Given the description of an element on the screen output the (x, y) to click on. 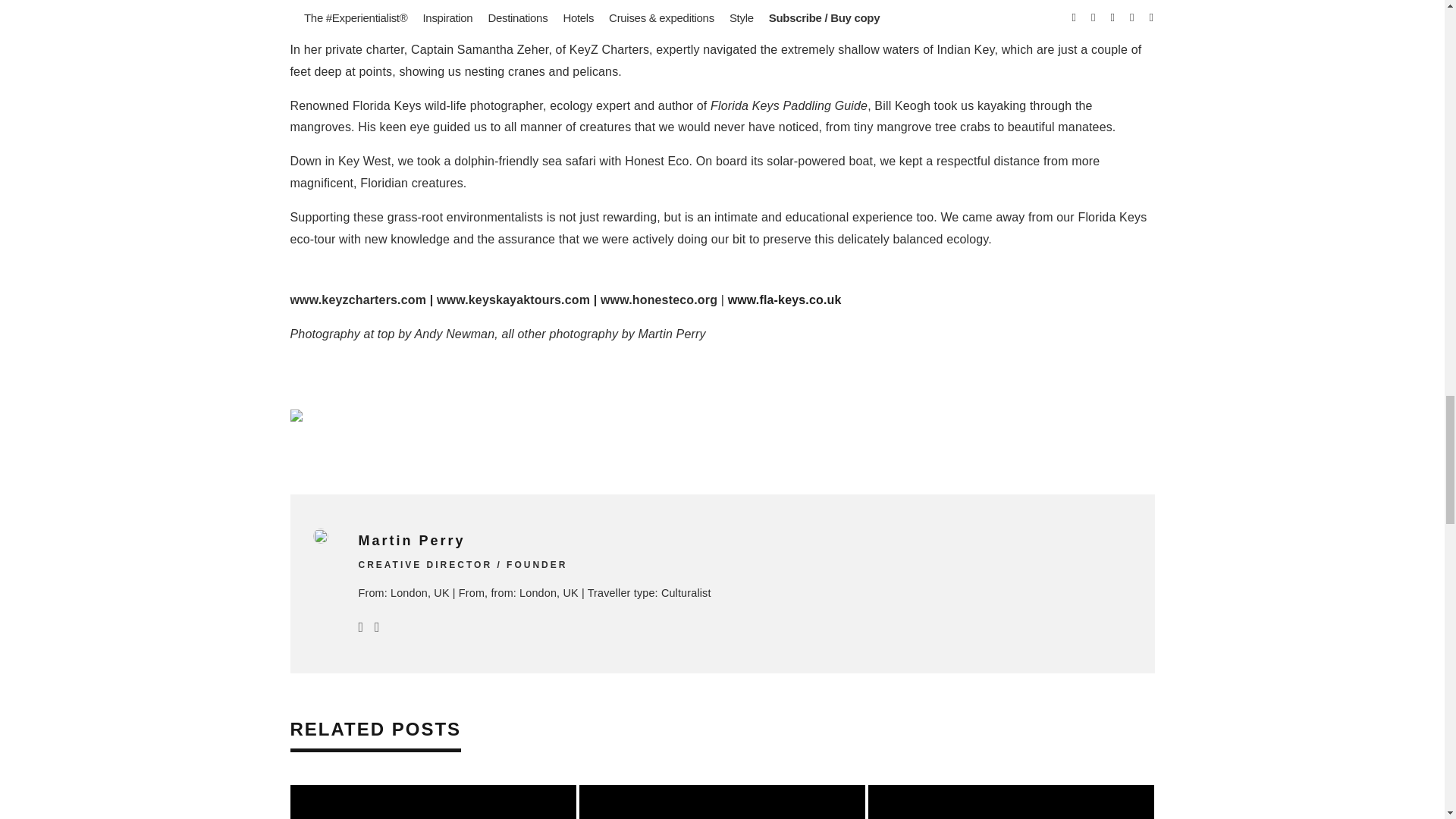
www.honesteco.org (658, 299)
Martin Perry (411, 540)
www.keyskayaktours.com (512, 299)
www.fla-keys.co.uk (784, 299)
www.keyzcharters.com (357, 299)
